Given the description of an element on the screen output the (x, y) to click on. 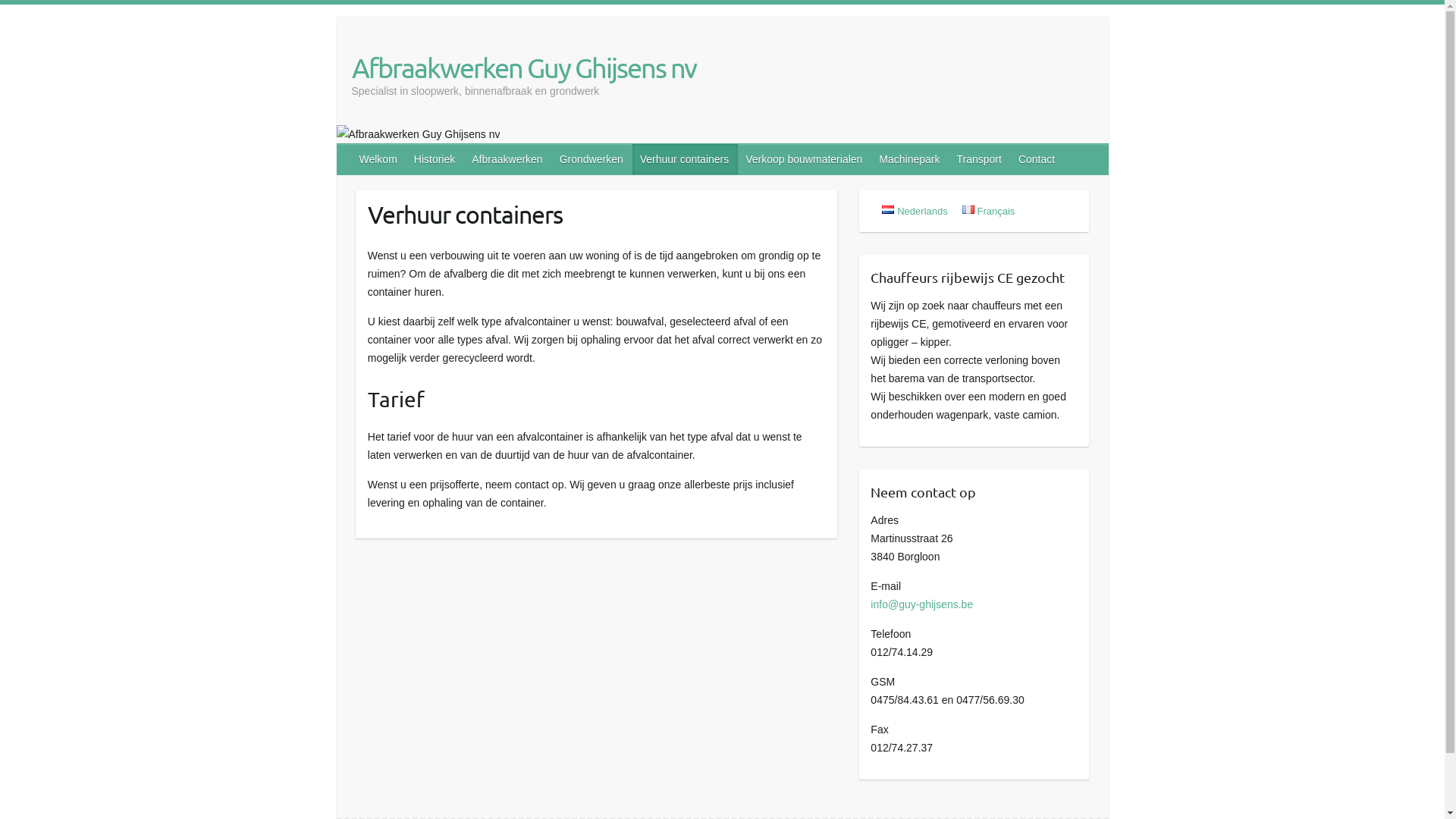
Doorgaan naar inhoud Element type: text (0, 4)
Contact Element type: text (1036, 159)
Welkom Element type: text (378, 159)
info@guy-ghijsens.be Element type: text (921, 604)
Grondwerken Element type: text (592, 159)
Afbraakwerken Guy Ghijsens nv Element type: text (523, 67)
Verkoop bouwmaterialen Element type: text (804, 159)
Nederlands Element type: text (914, 210)
Transport Element type: text (979, 159)
Verhuur containers Element type: text (685, 159)
Afbraakwerken Element type: text (507, 159)
Machinepark Element type: text (909, 159)
Historiek Element type: text (435, 159)
